Given the description of an element on the screen output the (x, y) to click on. 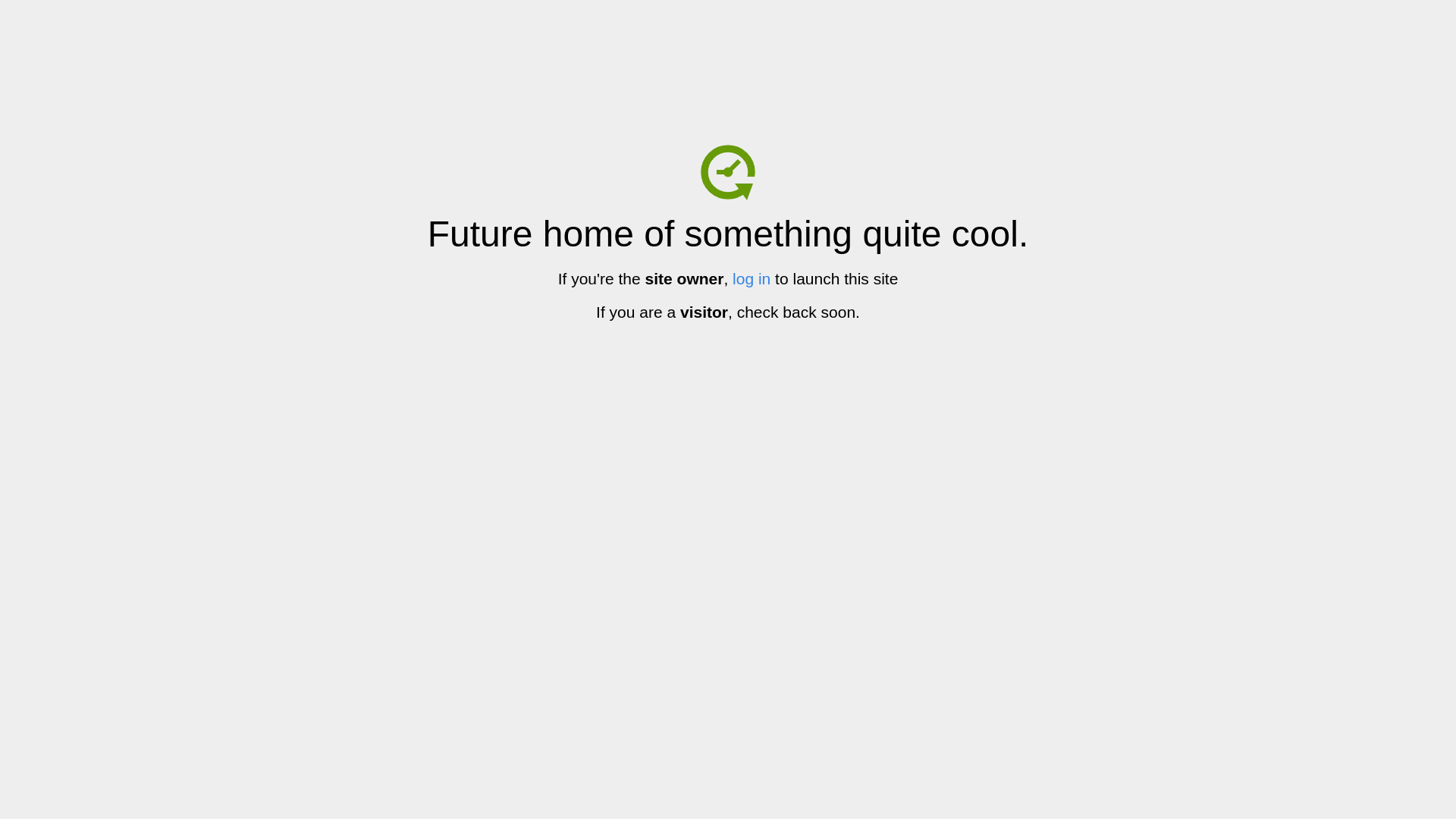
log in Element type: text (751, 278)
